Given the description of an element on the screen output the (x, y) to click on. 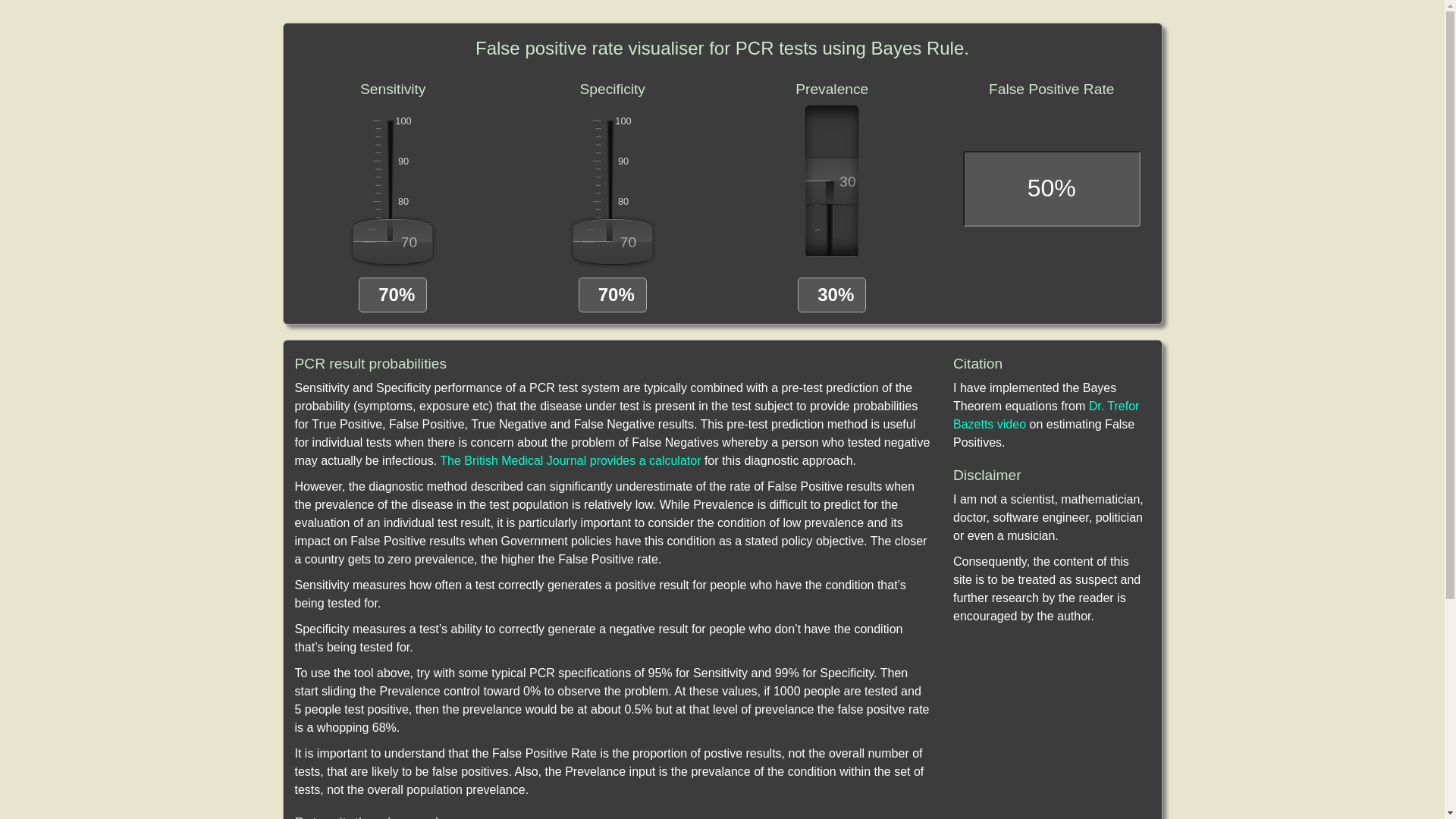
The British Medical Journal provides a calculator Element type: text (569, 460)
Dr. Trefor Bazetts video Element type: text (1046, 414)
